Given the description of an element on the screen output the (x, y) to click on. 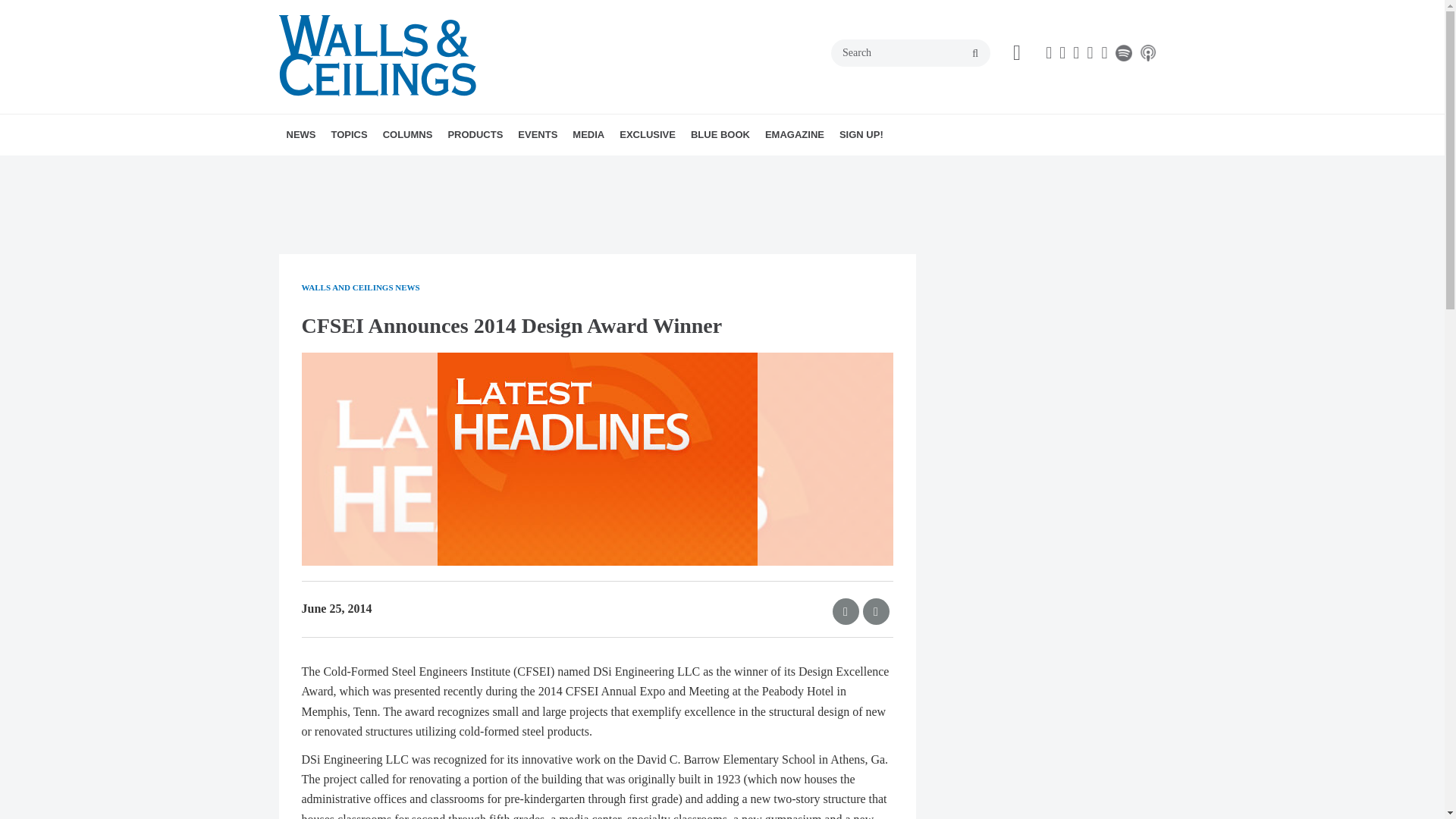
Search (910, 52)
TOPICS (348, 134)
PLASTER (445, 167)
Search (910, 52)
NEWS (301, 134)
WOMEN IN CONSTRUCTION (464, 167)
INTERIOR (459, 167)
INDUSTRY VOICES (483, 167)
METAL FRAMING (436, 167)
search (975, 53)
TOOLS AND SOFTWARE (457, 167)
ALL THINGS GYPSUM (469, 167)
UP FRONT (493, 167)
FIREPROOFING (442, 167)
INSULATION (454, 167)
